Given the description of an element on the screen output the (x, y) to click on. 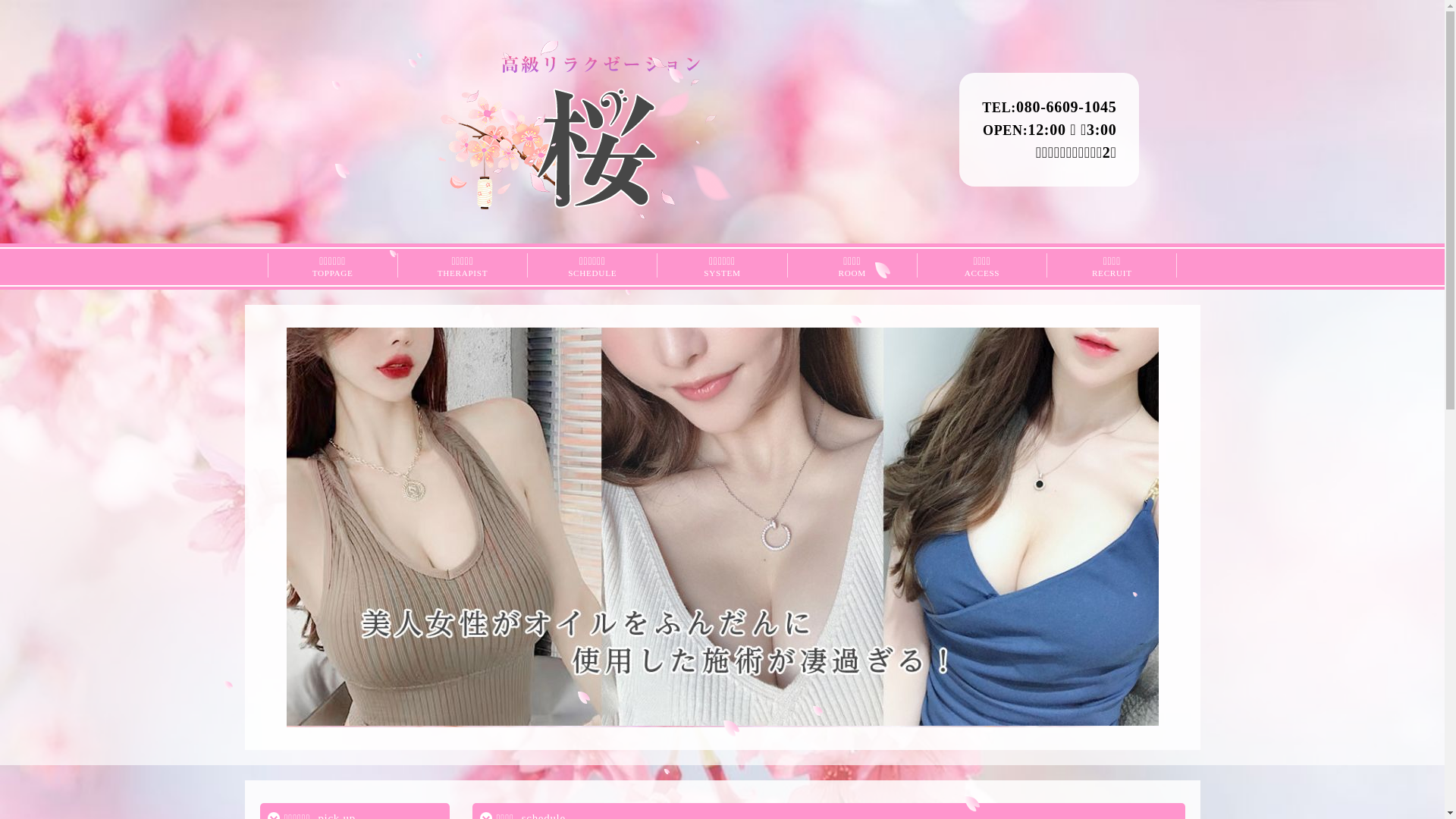
TEL:080-6609-1045 Element type: text (1049, 106)
